Given the description of an element on the screen output the (x, y) to click on. 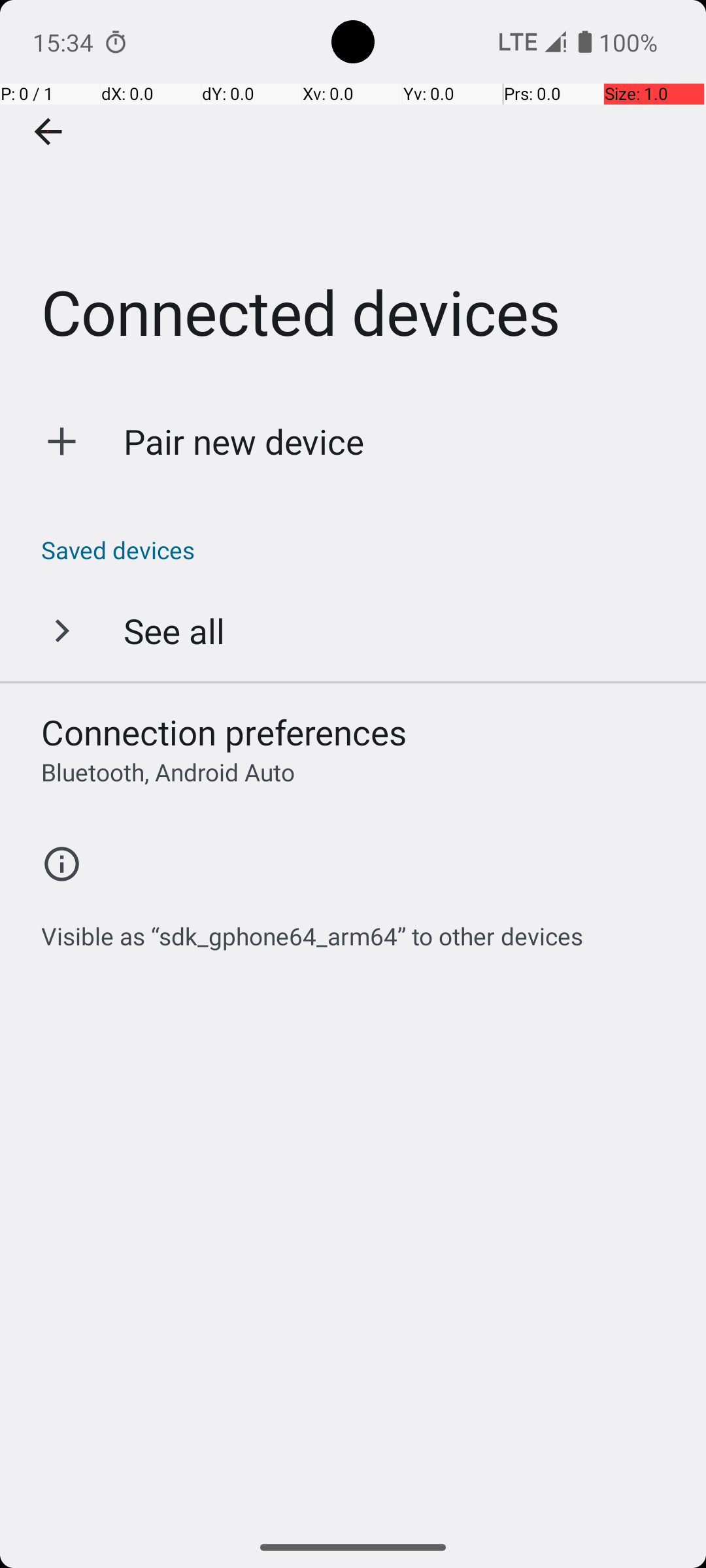
Pair new device Element type: android.widget.TextView (243, 441)
Saved devices Element type: android.widget.TextView (359, 549)
See all Element type: android.widget.TextView (173, 630)
Connection preferences Element type: android.widget.TextView (224, 731)
Bluetooth, Android Auto Element type: android.widget.TextView (167, 771)
Visible as “sdk_gphone64_arm64” to other devices Element type: android.widget.TextView (312, 928)
